Given the description of an element on the screen output the (x, y) to click on. 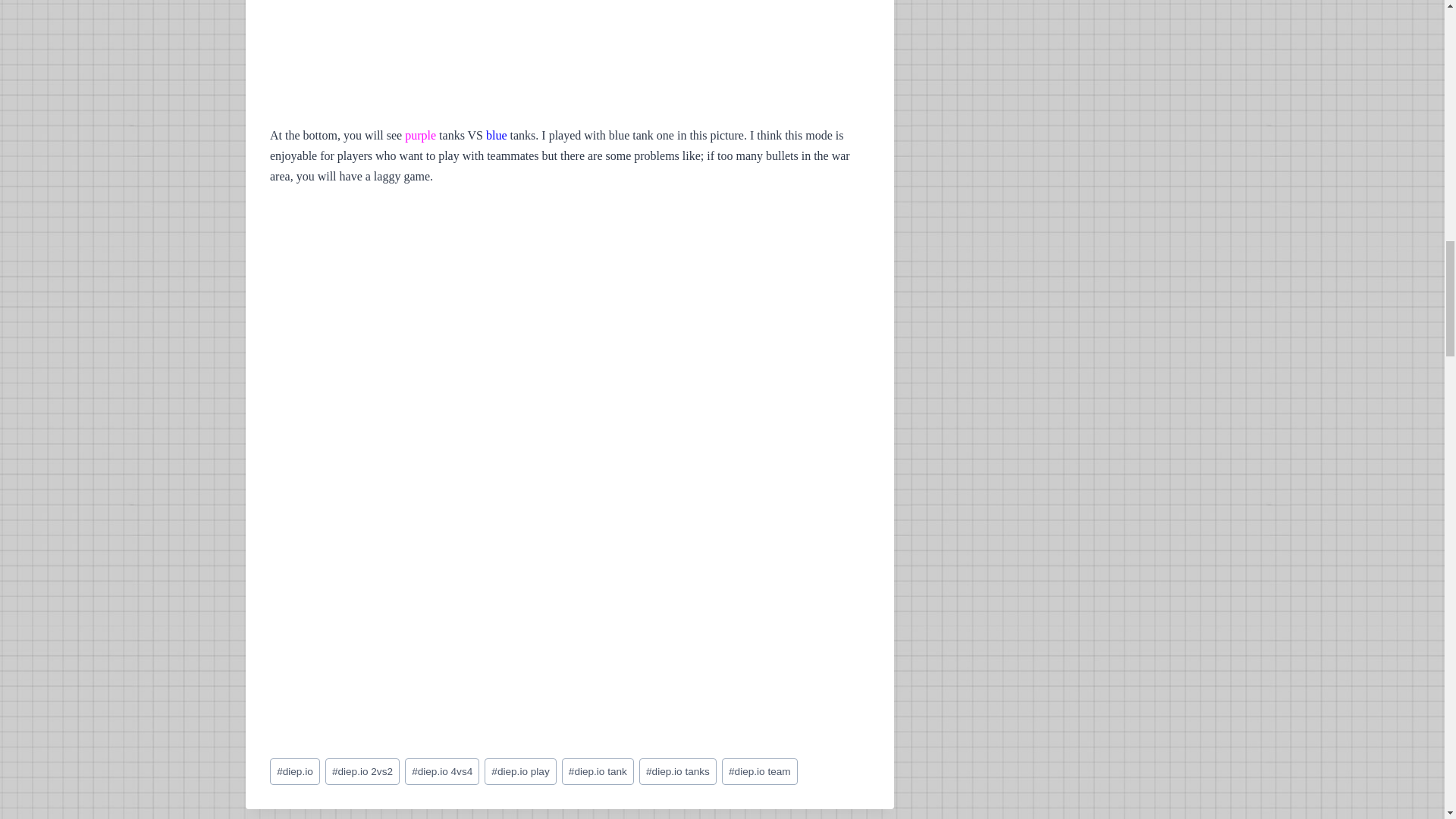
diep.io 2vs2 (361, 771)
diep.io tank (597, 771)
diep.io tanks (677, 771)
diep.io team (759, 771)
diep.io (294, 771)
diep.io play (520, 771)
diep.io 4vs4 (441, 771)
